Given the description of an element on the screen output the (x, y) to click on. 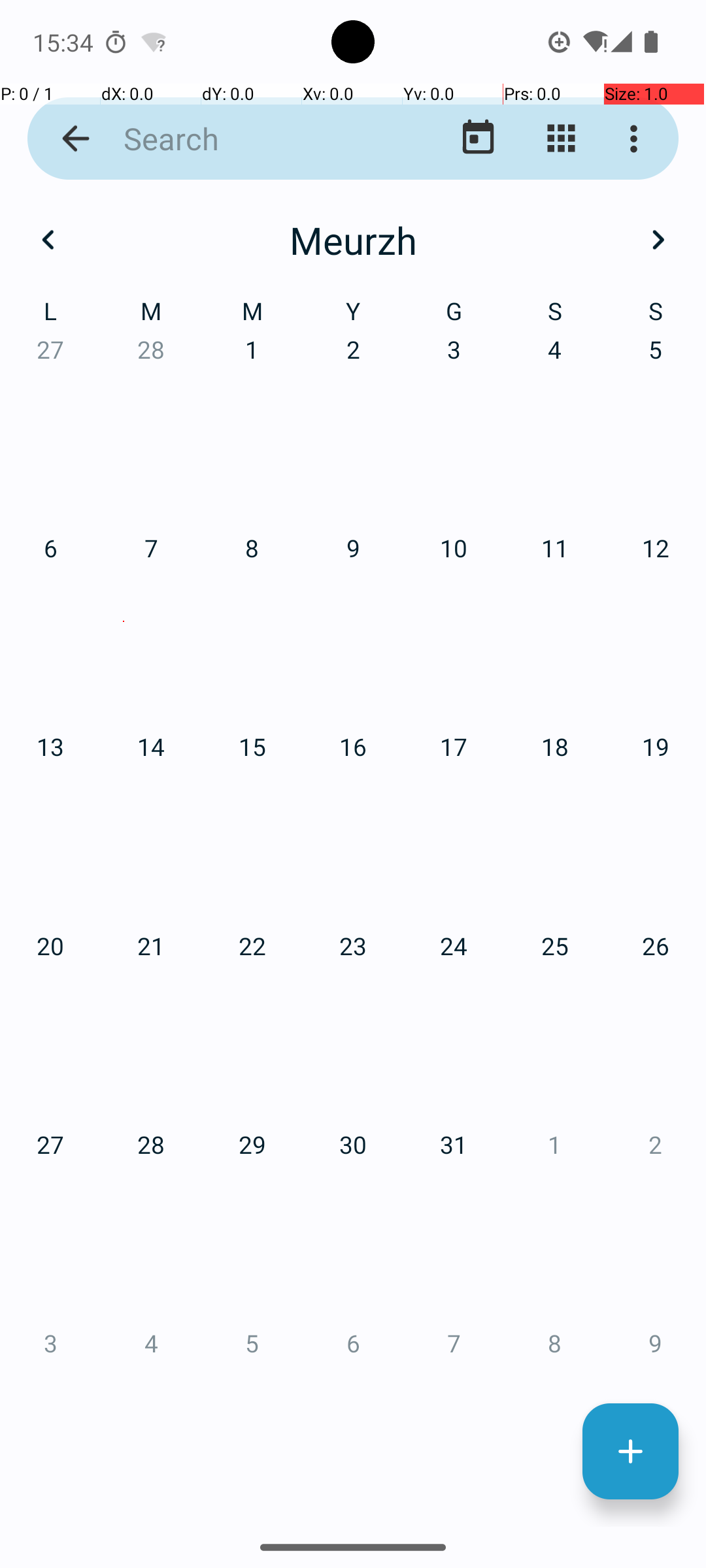
Mont da hiziv Element type: android.widget.Button (477, 138)
Kemmañ ar gwel Element type: android.widget.Button (560, 138)
Darvoud nevez Element type: android.widget.ImageButton (630, 1451)
GENVER Element type: android.widget.TextView (123, 319)
C'HWEVRER Element type: android.widget.TextView (352, 319)
MEURZH Element type: android.widget.TextView (582, 319)
EBREL Element type: android.widget.TextView (123, 621)
MAE Element type: android.widget.TextView (352, 621)
MEZHEVEN Element type: android.widget.TextView (582, 621)
GOUERE Element type: android.widget.TextView (123, 923)
EOST Element type: android.widget.TextView (352, 923)
GWENGOLO Element type: android.widget.TextView (582, 923)
HERE Element type: android.widget.TextView (123, 1224)
DU Element type: android.widget.TextView (352, 1224)
KERZU Element type: android.widget.TextView (582, 1224)
Meurzh Element type: android.widget.TextView (352, 239)
